Given the description of an element on the screen output the (x, y) to click on. 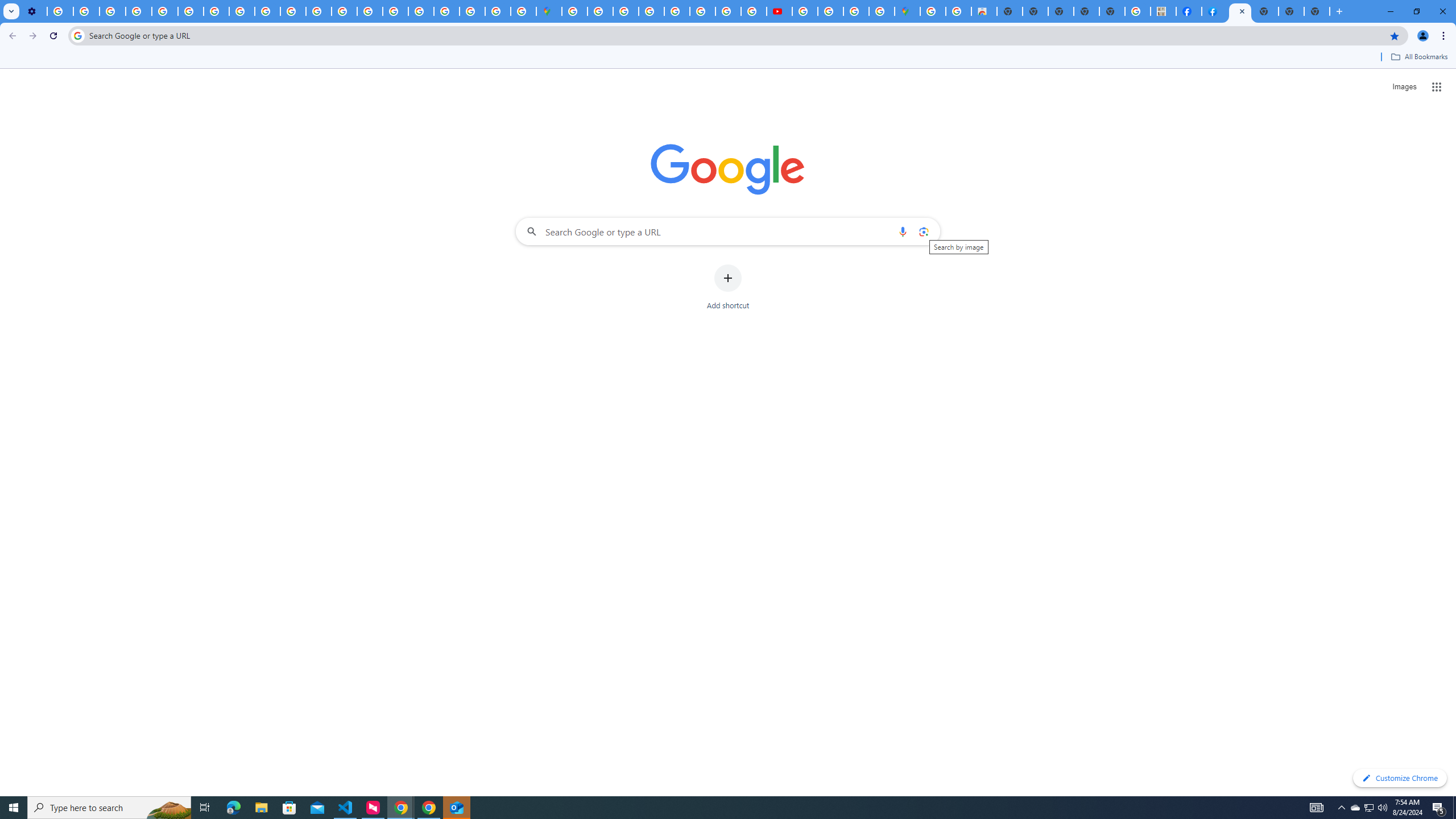
Privacy Checkup (266, 11)
MILEY CYRUS. (1162, 11)
YouTube (190, 11)
Subscriptions - YouTube (779, 11)
Sign in - Google Accounts (446, 11)
Privacy Checkup (293, 11)
